Given the description of an element on the screen output the (x, y) to click on. 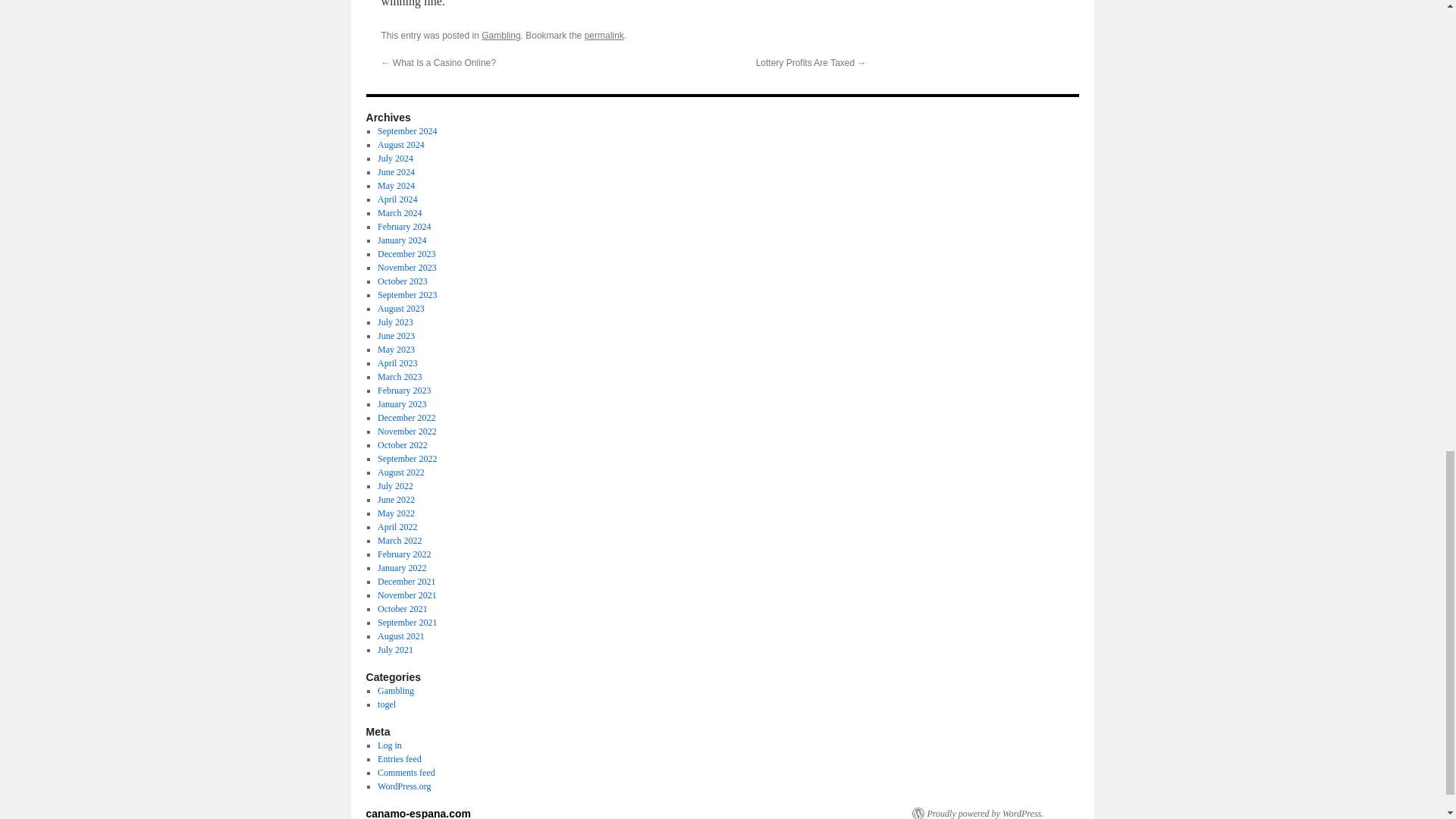
December 2023 (406, 253)
July 2023 (395, 321)
January 2024 (401, 240)
July 2024 (395, 158)
August 2023 (401, 308)
February 2024 (403, 226)
March 2024 (399, 213)
October 2023 (402, 281)
Permalink to How to Win at a Slot (604, 35)
September 2023 (406, 294)
